Given the description of an element on the screen output the (x, y) to click on. 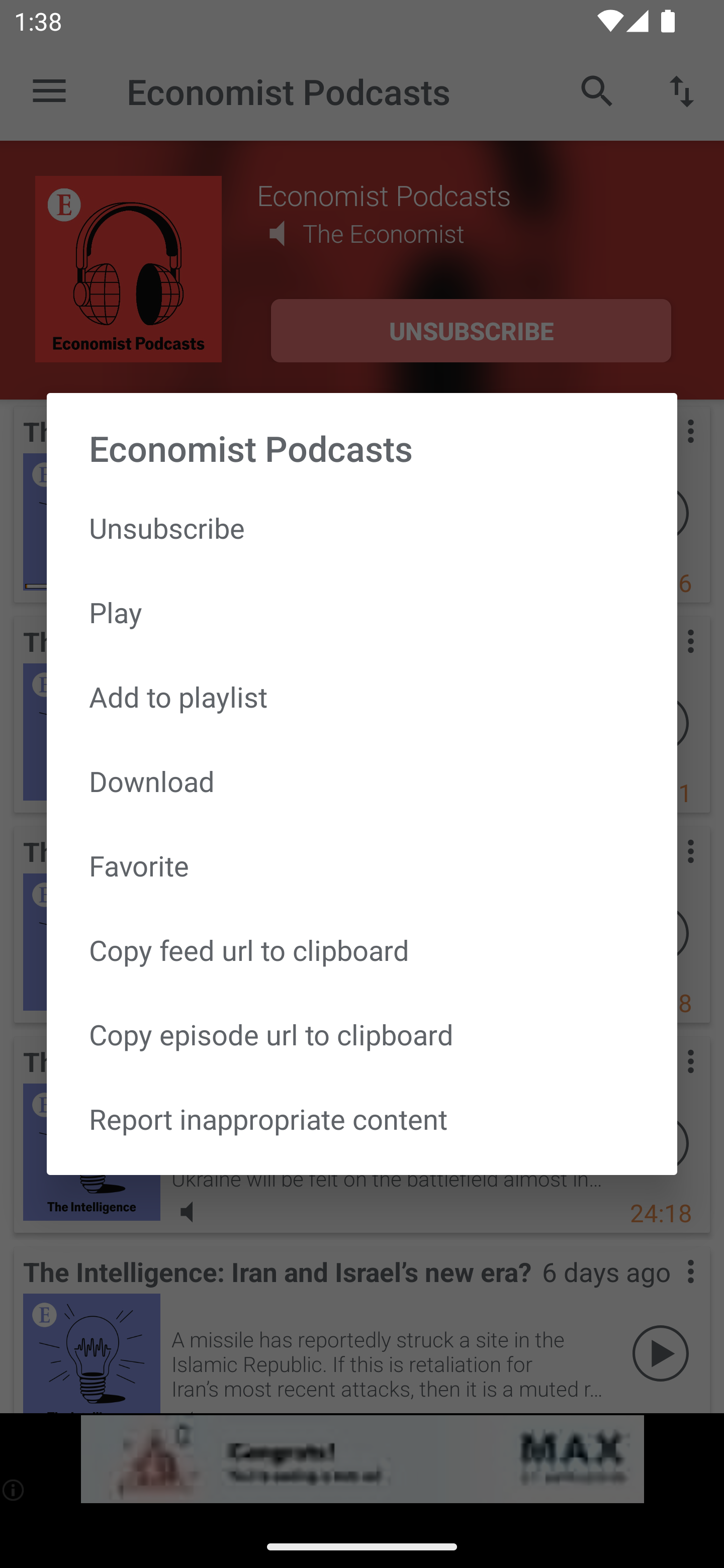
Unsubscribe (361, 527)
Play (361, 611)
Add to playlist (361, 695)
Download (361, 780)
Favorite (361, 865)
Copy feed url to clipboard (361, 949)
Copy episode url to clipboard (361, 1034)
Report inappropriate content (361, 1118)
